Given the description of an element on the screen output the (x, y) to click on. 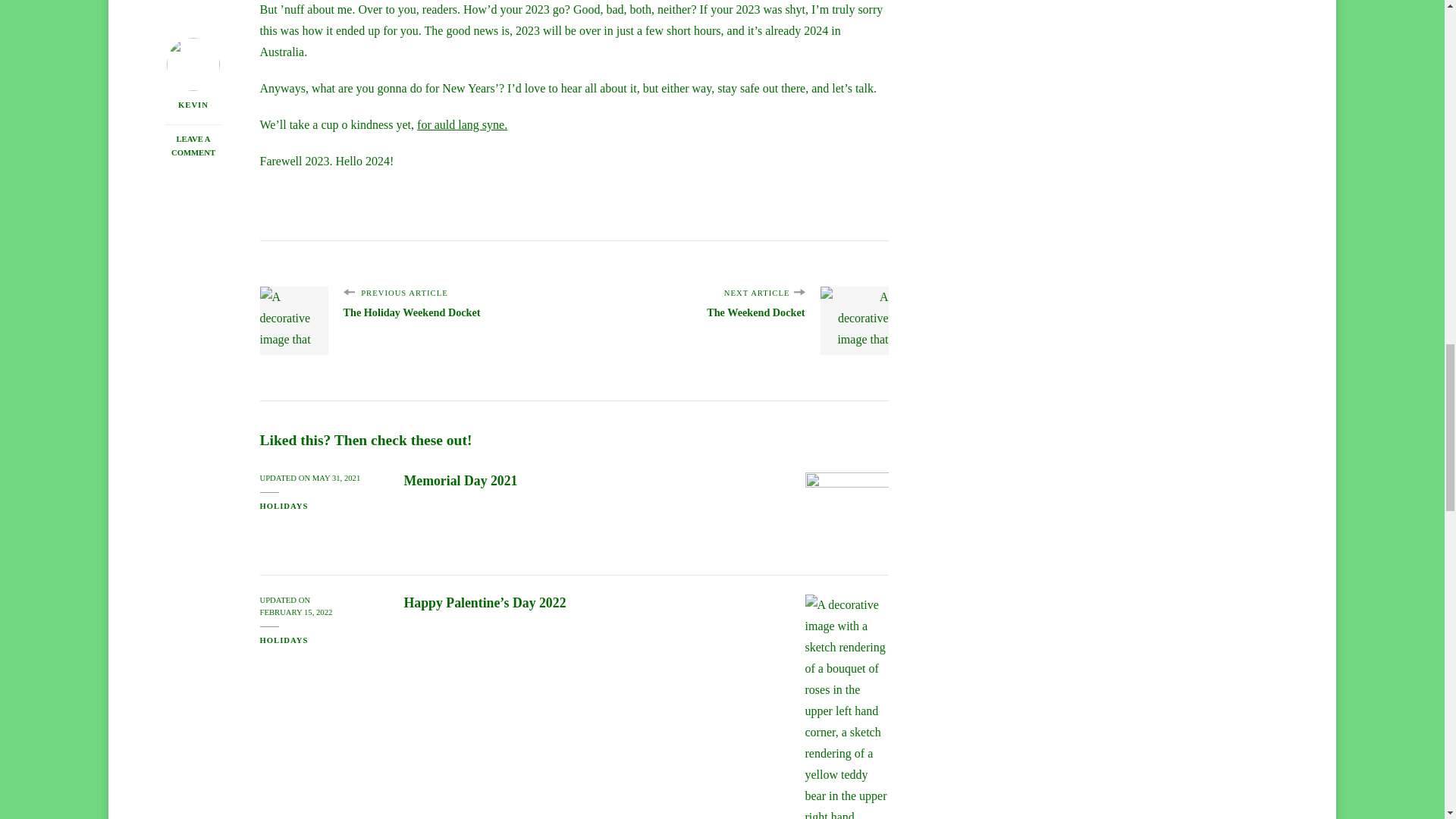
Memorial Day 2021 (697, 320)
for auld lang syne. (459, 480)
FEBRUARY 15, 2022 (450, 320)
HOLIDAYS (461, 124)
MAY 31, 2021 (295, 612)
